Given the description of an element on the screen output the (x, y) to click on. 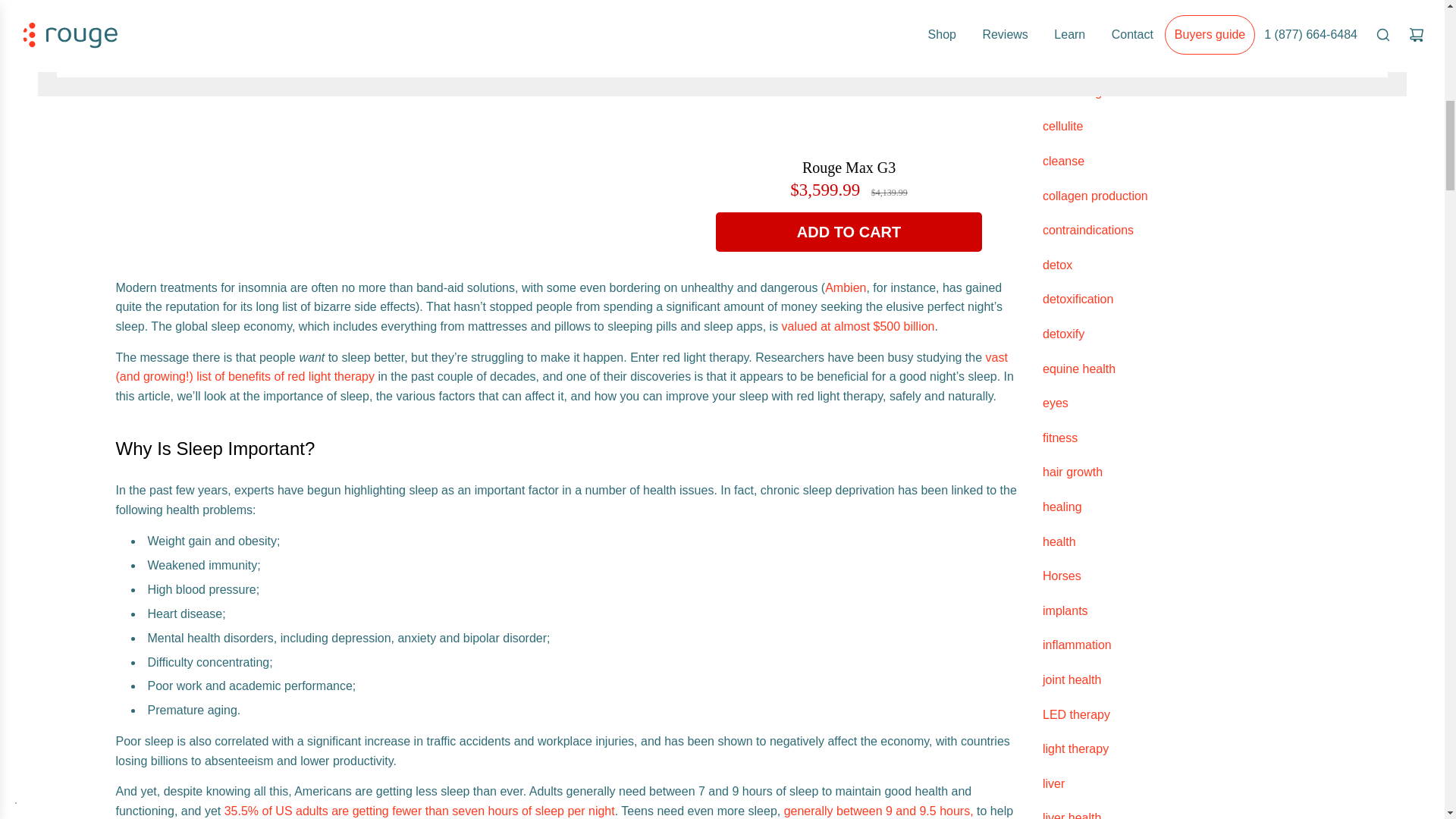
Show articles tagged cellular regeneration (1097, 91)
Show articles tagged Bone Health (1075, 56)
Show articles tagged health (1058, 541)
Show articles tagged eyes (1055, 402)
Show articles tagged hair growth (1072, 472)
Show articles tagged healing (1061, 506)
Show articles tagged contraindications (1088, 229)
Show articles tagged equine health (1078, 368)
Show articles tagged cellulite (1062, 125)
Show articles tagged detox (1056, 264)
Show articles tagged detoxification (1077, 298)
Show articles tagged collagen production (1095, 195)
Show articles tagged detoxify (1063, 333)
Show articles tagged fitness (1059, 437)
Show articles tagged Horses (1061, 575)
